Given the description of an element on the screen output the (x, y) to click on. 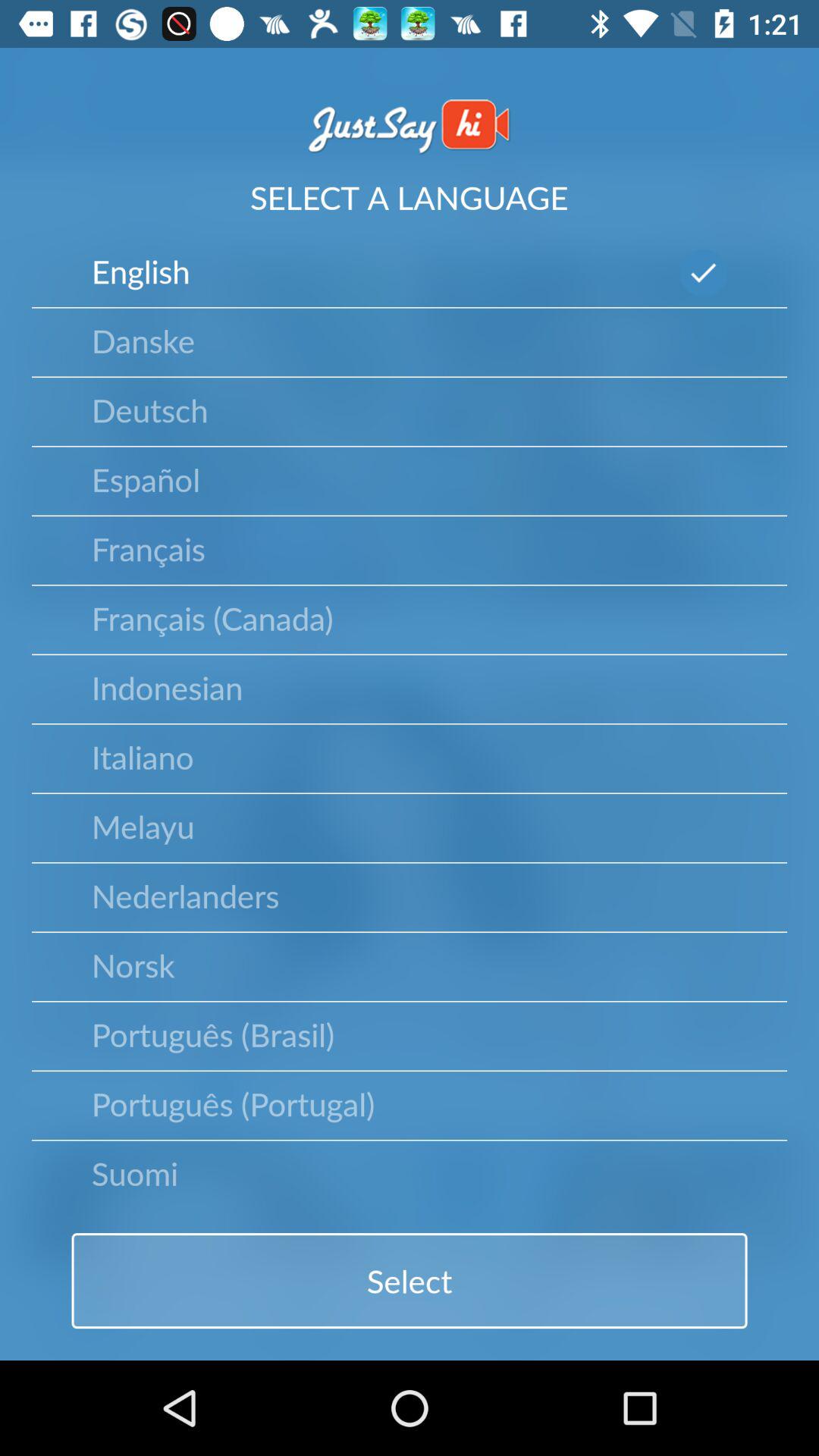
launch the deutsch item (149, 409)
